Given the description of an element on the screen output the (x, y) to click on. 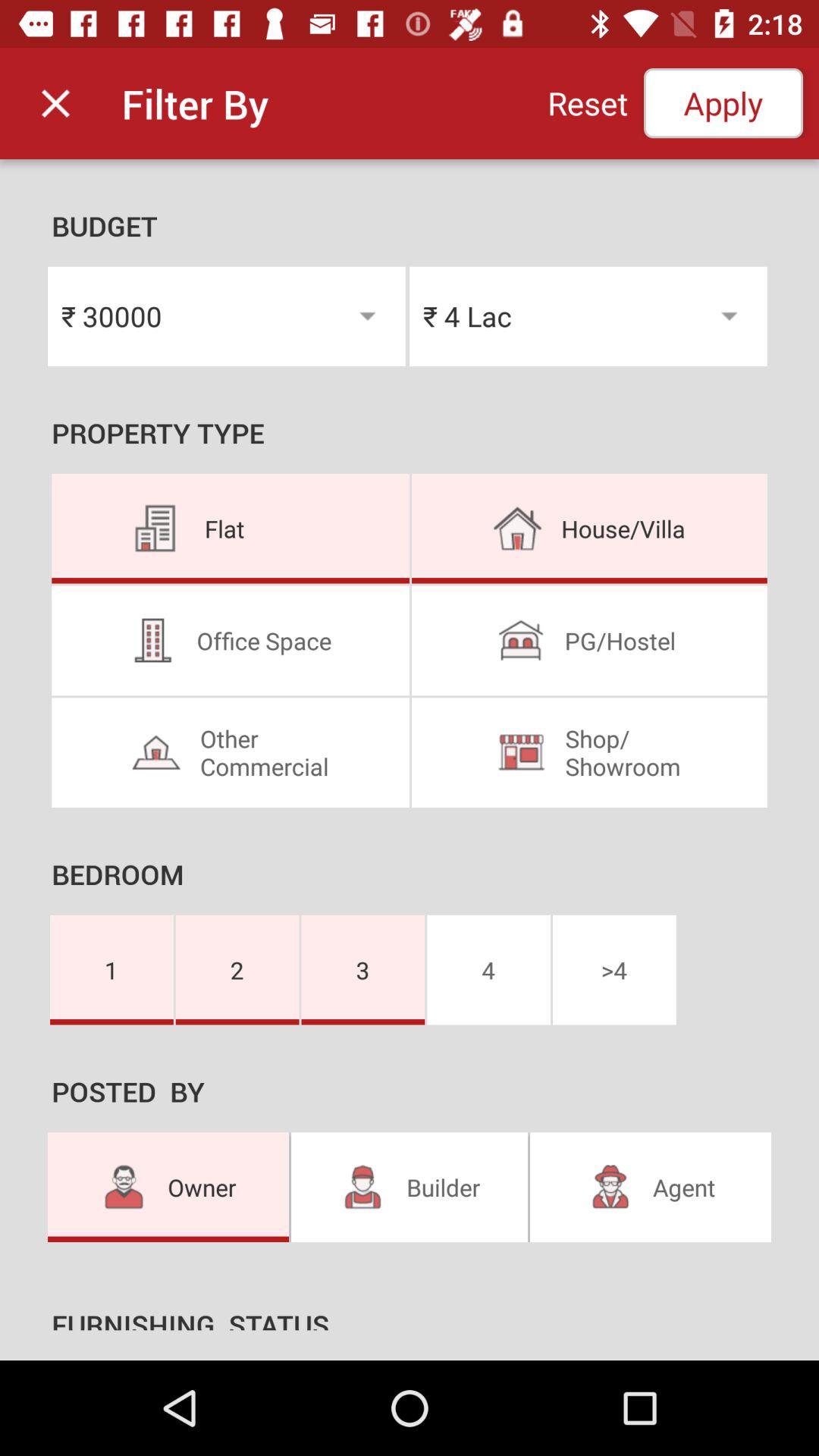
exit (55, 103)
